Given the description of an element on the screen output the (x, y) to click on. 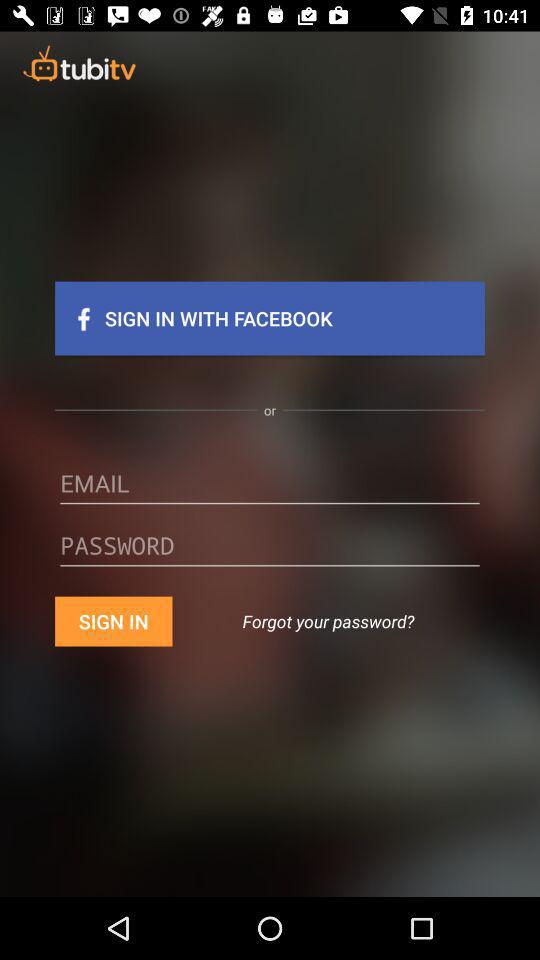
flip until forgot your password? icon (328, 621)
